Given the description of an element on the screen output the (x, y) to click on. 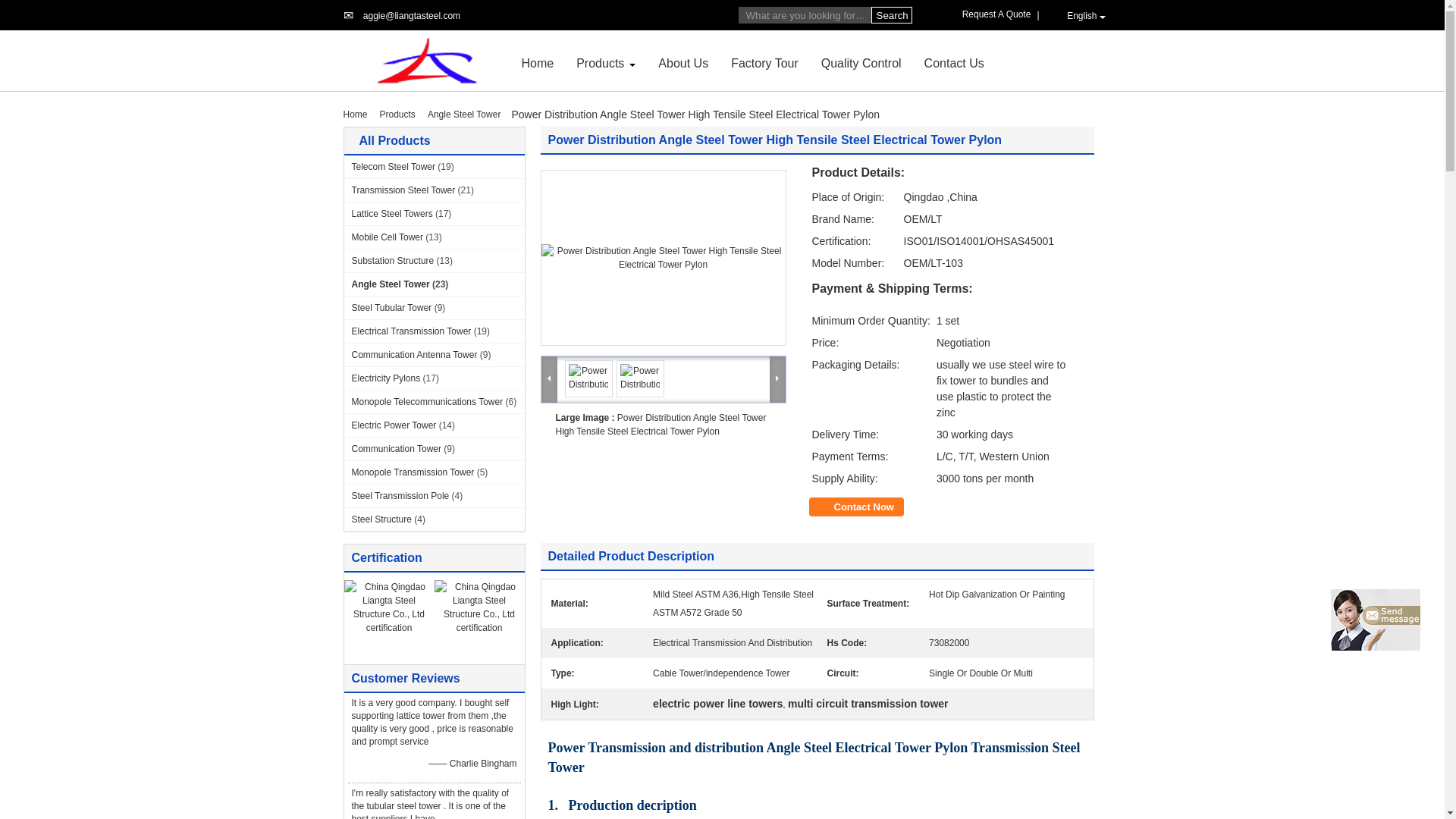
English (1078, 15)
Search (890, 14)
Qingdao Liangta Steel Structure Co., Ltd (411, 15)
Request A Quote (999, 14)
Home (537, 62)
Products (600, 62)
